Given the description of an element on the screen output the (x, y) to click on. 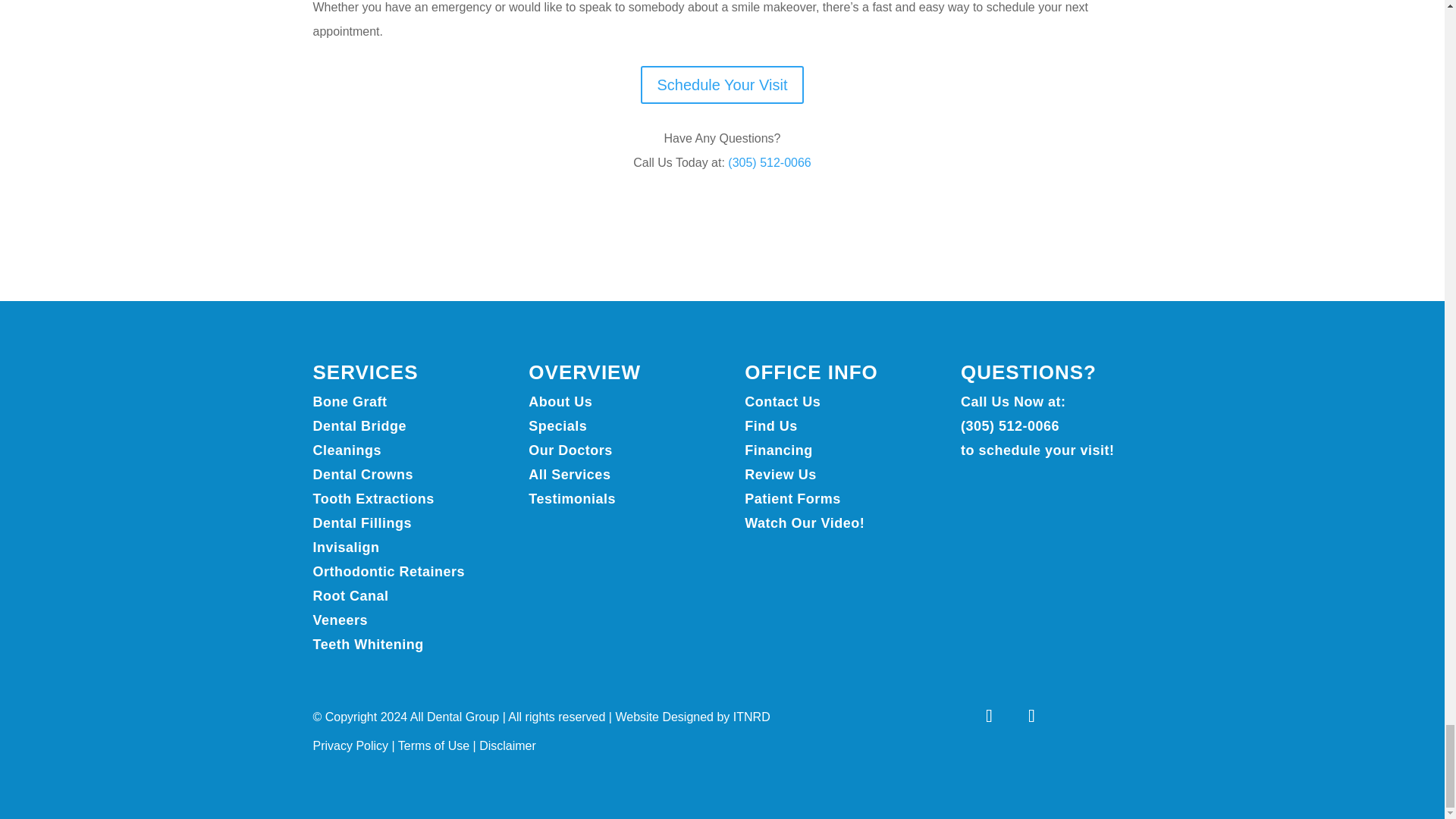
Click to Call (769, 162)
Follow on Instagram (1031, 715)
Follow on Facebook (989, 715)
